Given the description of an element on the screen output the (x, y) to click on. 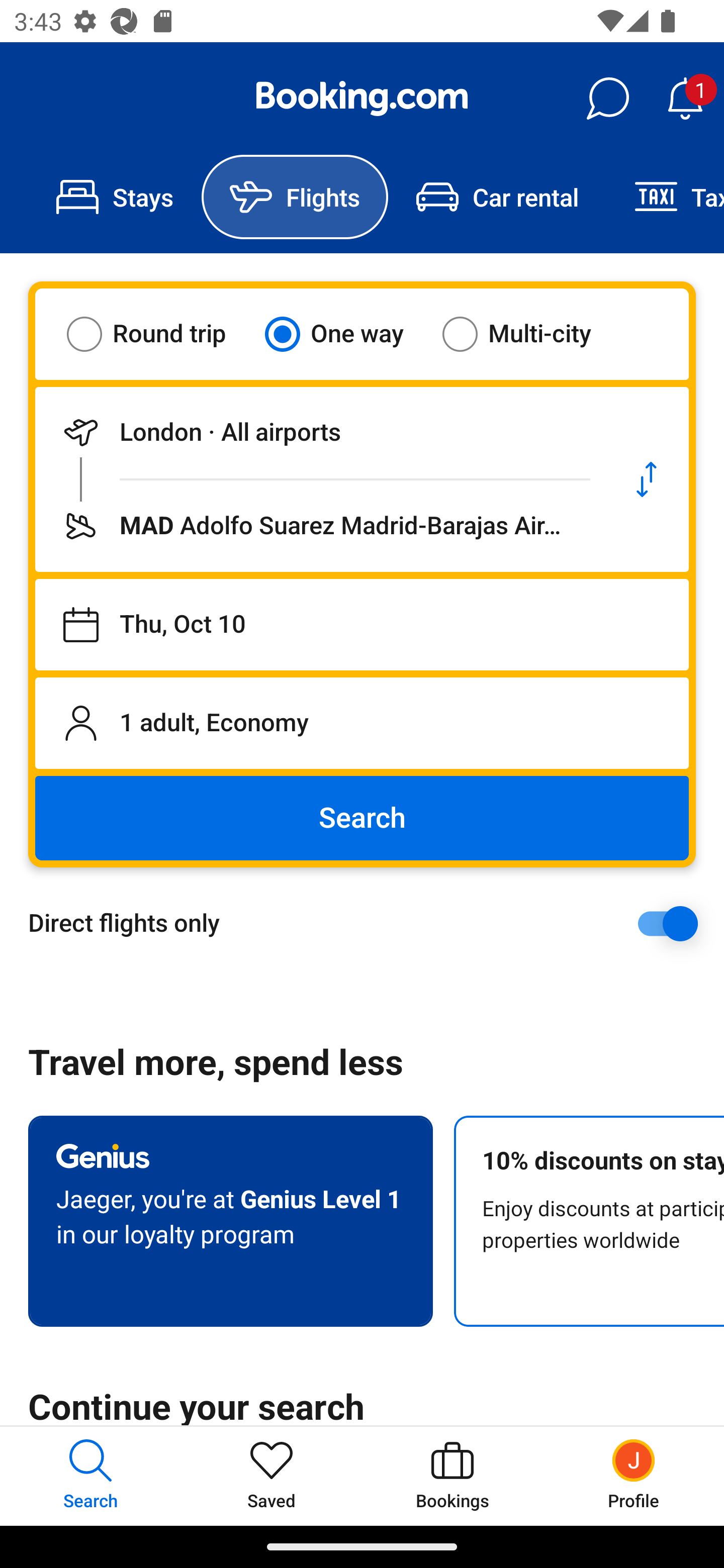
Messages (607, 98)
Notifications (685, 98)
Stays (114, 197)
Flights (294, 197)
Car rental (497, 197)
Taxi (665, 197)
Round trip (158, 333)
Multi-city (528, 333)
Departing from London · All airports (319, 432)
Swap departure location and destination (646, 479)
Flying to MAD Adolfo Suarez Madrid-Barajas Airport (319, 525)
Departing on Thu, Oct 10 (361, 624)
1 adult, Economy (361, 722)
Search (361, 818)
Direct flights only (369, 923)
Saved (271, 1475)
Bookings (452, 1475)
Profile (633, 1475)
